Given the description of an element on the screen output the (x, y) to click on. 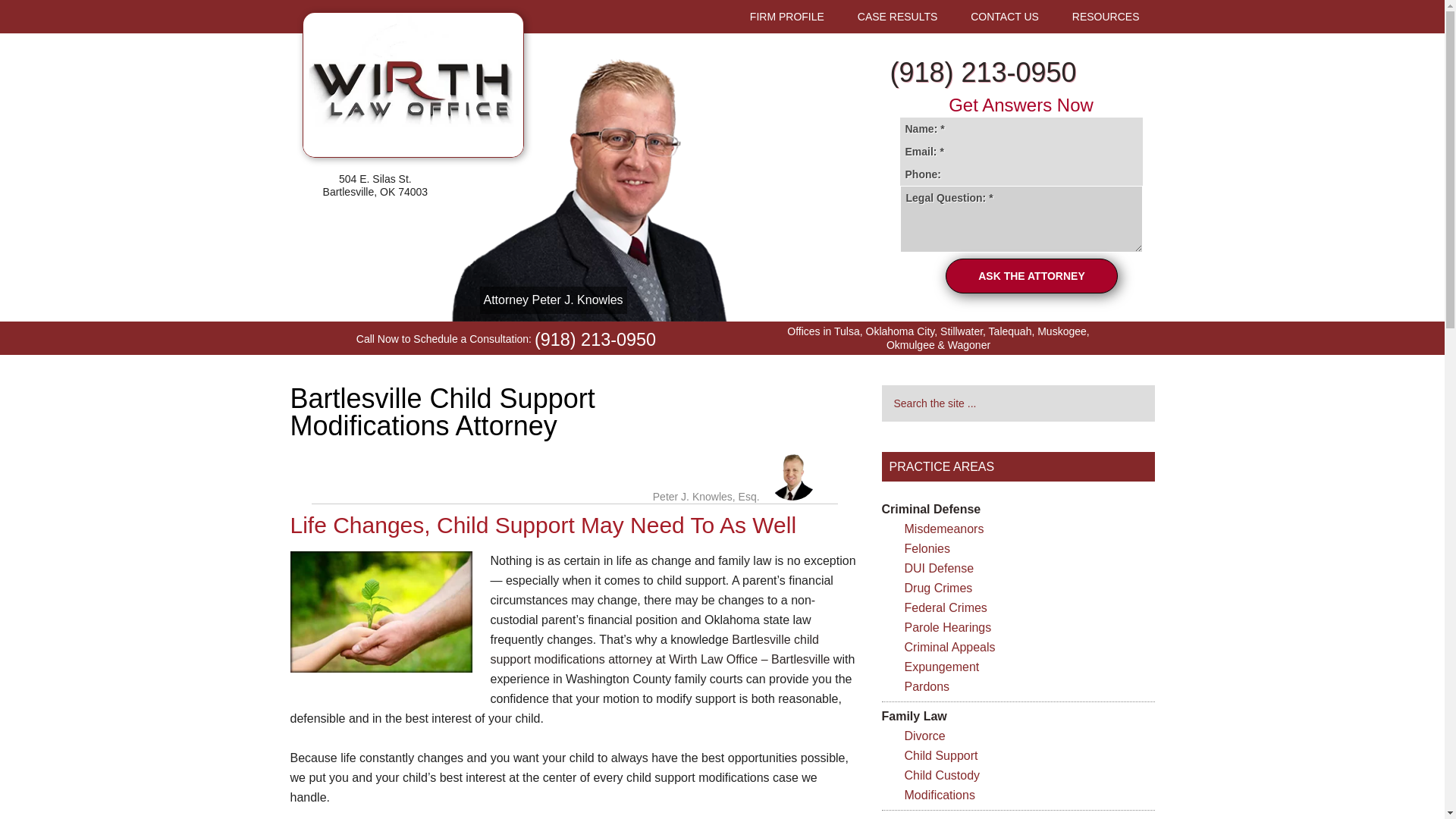
Ask the Attorney (1031, 275)
RESOURCES (1105, 16)
Ask the Attorney (1031, 275)
FIRM PROFILE (787, 16)
CONTACT US (1004, 16)
Bartlesville Family Law Attorney (748, 658)
CASE RESULTS (898, 16)
